Given the description of an element on the screen output the (x, y) to click on. 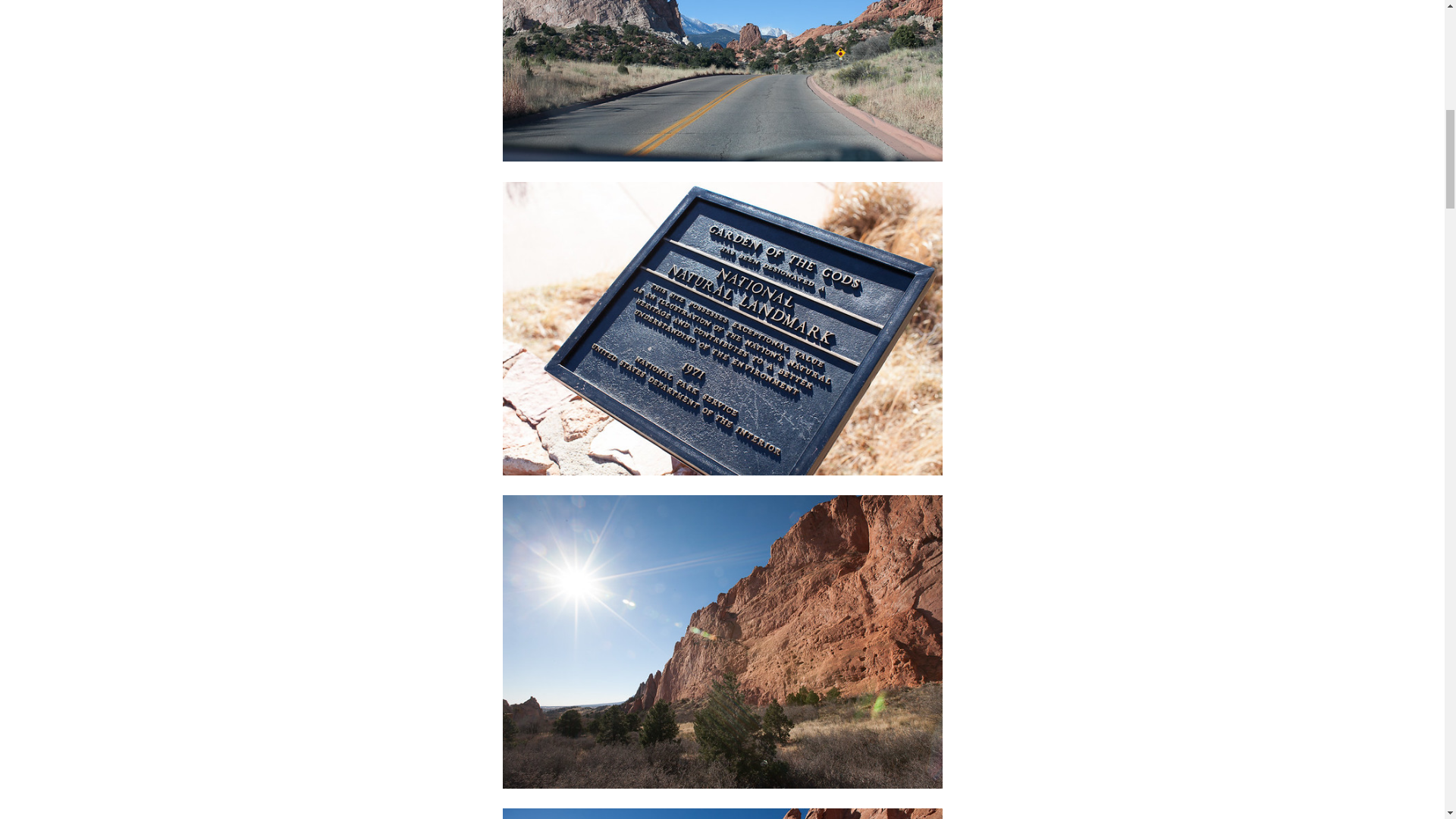
Garden of the Gods by Shay Thomason, on Flickr (722, 813)
Garden of the Gods by Shay Thomason, on Flickr (722, 80)
Garden of the Gods by Shay Thomason, on Flickr (722, 328)
Garden of the Gods by Shay Thomason, on Flickr (722, 641)
